Given the description of an element on the screen output the (x, y) to click on. 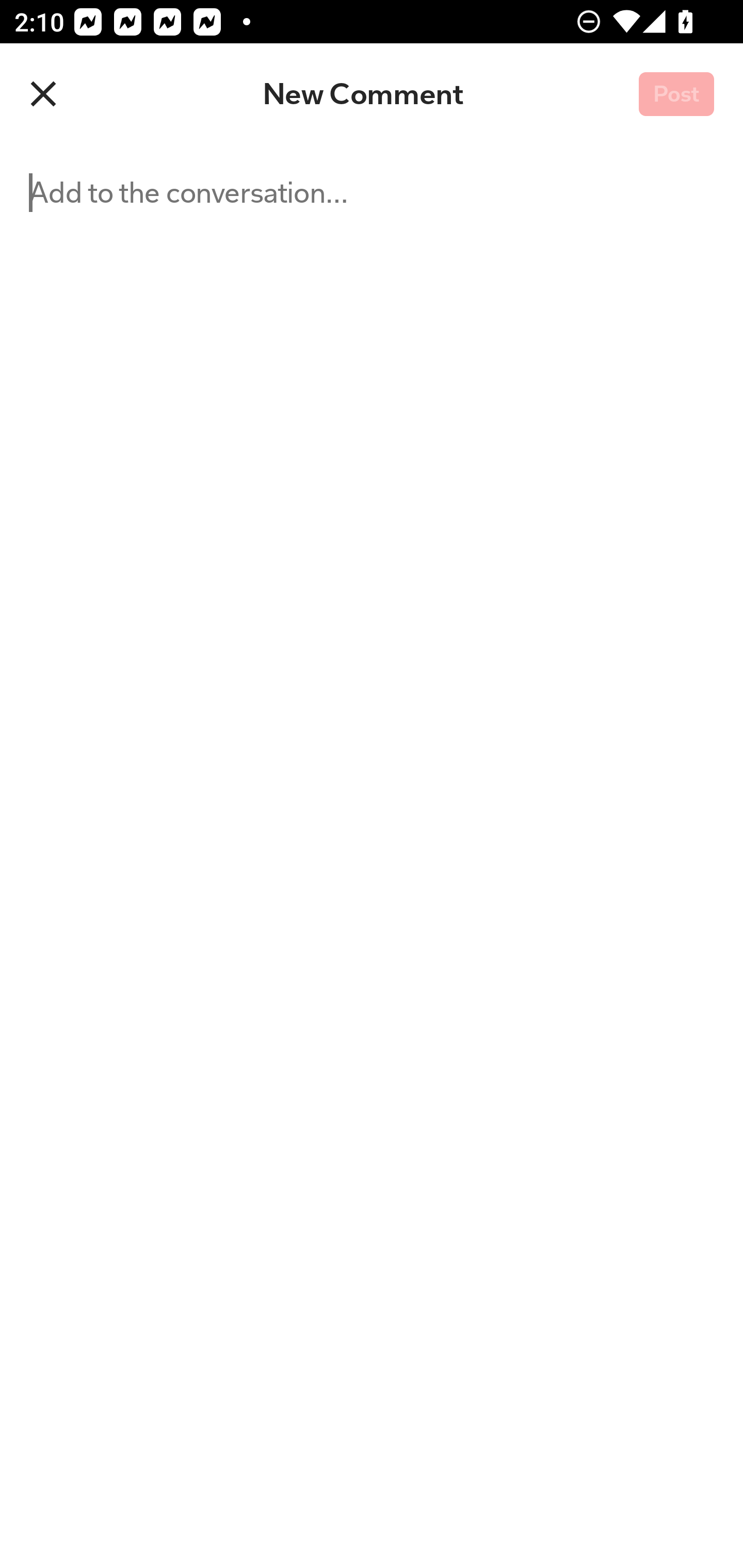
Post (676, 94)
Add to the conversation… (252, 856)
